Given the description of an element on the screen output the (x, y) to click on. 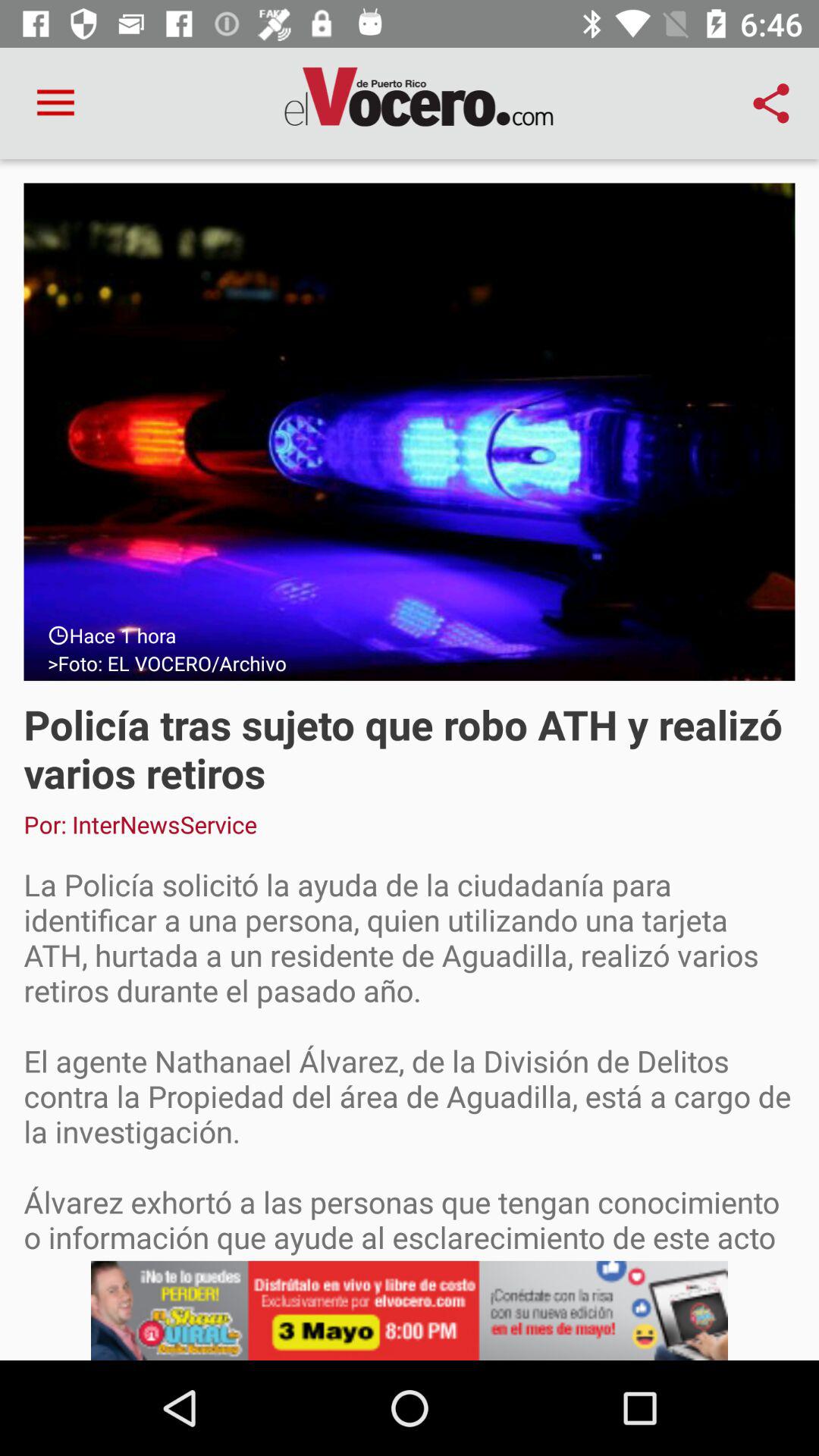
click advertisement banner (409, 1310)
